Given the description of an element on the screen output the (x, y) to click on. 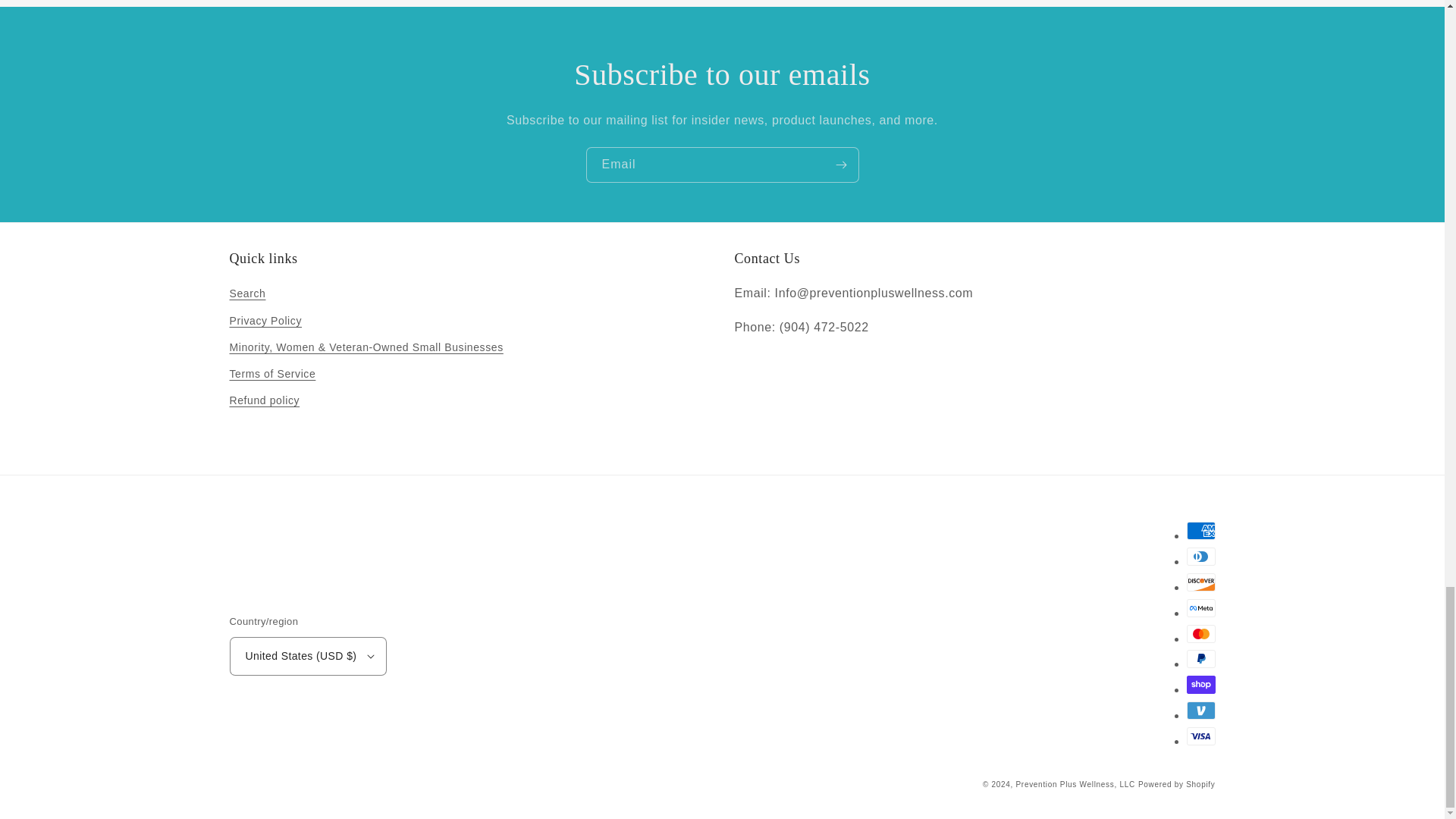
American Express (1200, 530)
Diners Club (1200, 556)
Meta Pay (1200, 607)
Mastercard (1200, 633)
Discover (1200, 582)
